Given the description of an element on the screen output the (x, y) to click on. 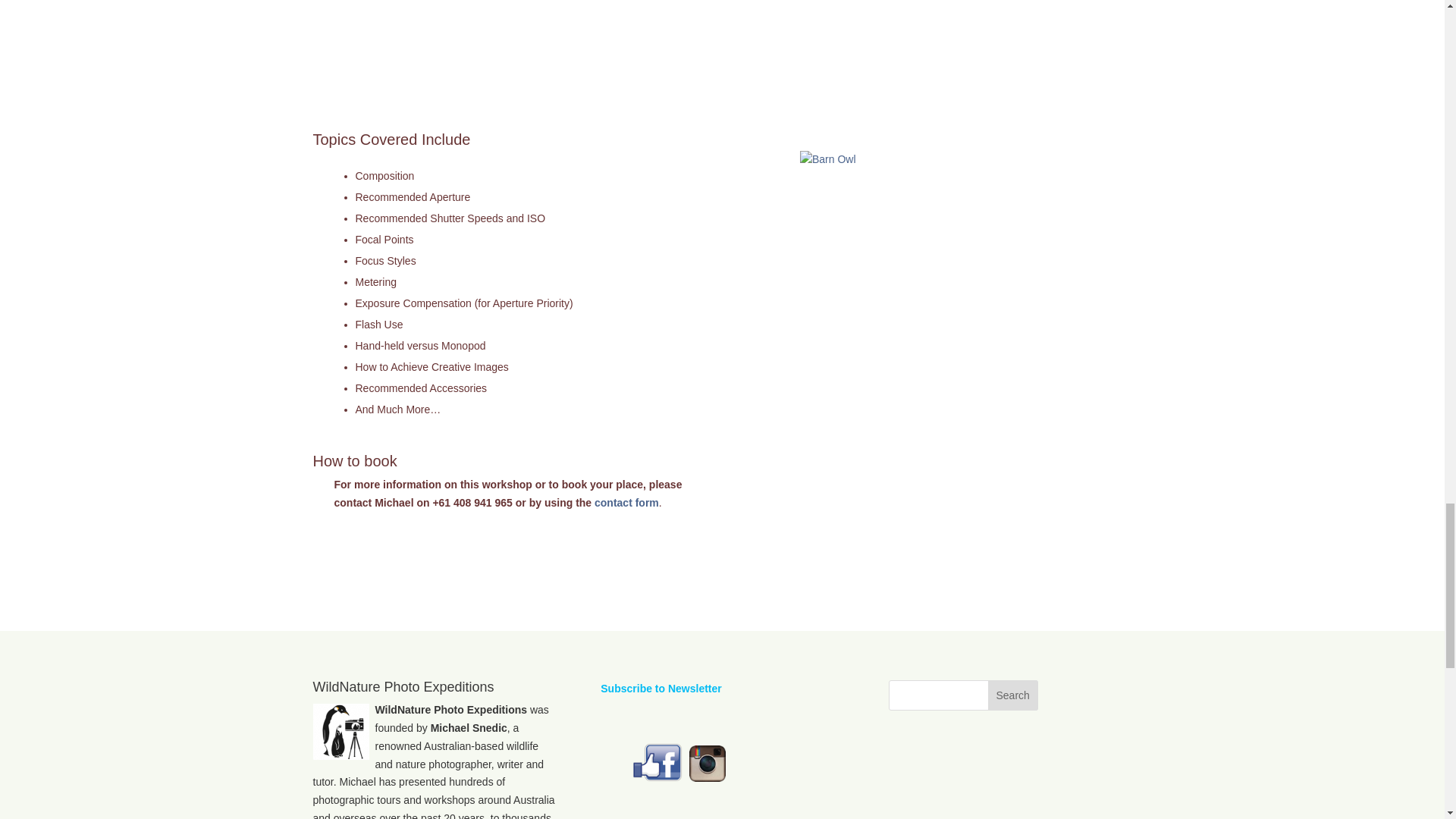
Search (1013, 695)
Search (1013, 695)
Contact Form (626, 502)
contact form (626, 502)
Subscribe to Newsletter (660, 688)
